Given the description of an element on the screen output the (x, y) to click on. 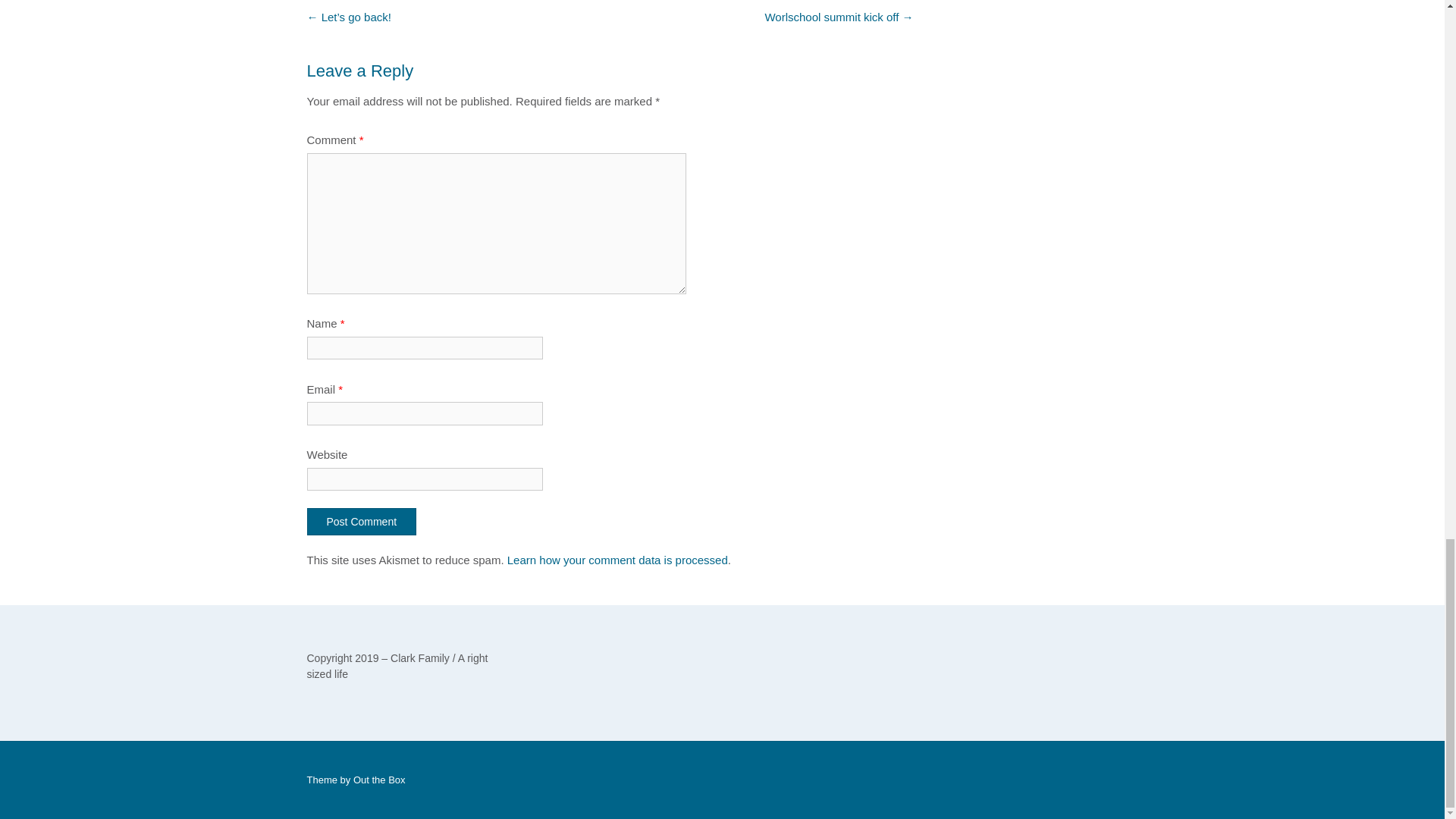
Learn how your comment data is processed (617, 559)
Post Comment (360, 521)
Post Comment (360, 521)
